Given the description of an element on the screen output the (x, y) to click on. 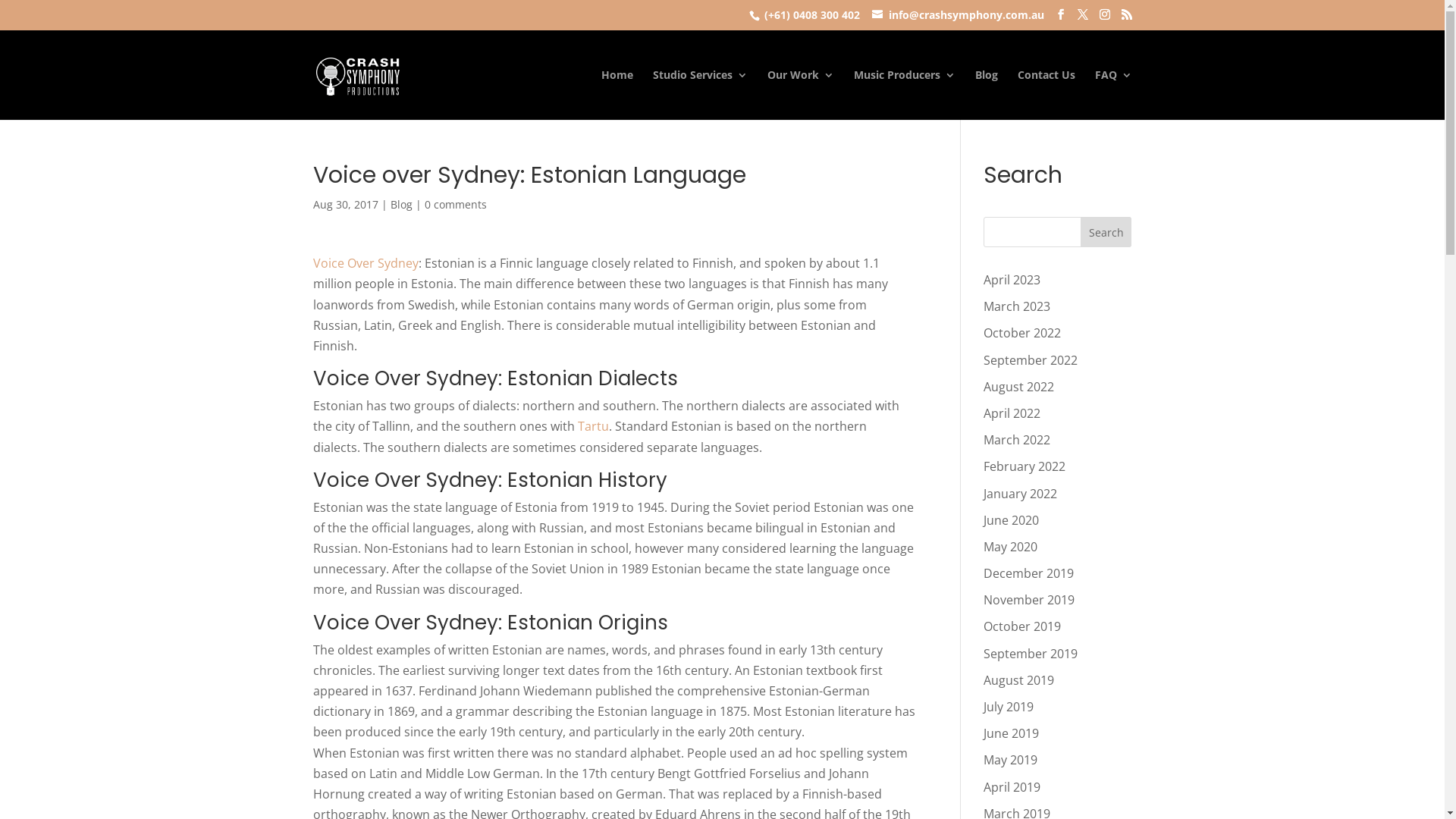
October 2019 Element type: text (1021, 626)
Blog Element type: text (986, 94)
September 2019 Element type: text (1030, 653)
March 2022 Element type: text (1016, 439)
Home Element type: text (616, 94)
0 comments Element type: text (455, 204)
April 2023 Element type: text (1011, 279)
August 2022 Element type: text (1018, 386)
Contact Us Element type: text (1046, 94)
Our Work Element type: text (800, 94)
Blog Element type: text (400, 204)
May 2020 Element type: text (1010, 546)
info@crashsymphony.com.au Element type: text (958, 15)
July 2019 Element type: text (1008, 706)
April 2022 Element type: text (1011, 412)
March 2023 Element type: text (1016, 306)
(+61) 0408 300 402 Element type: text (811, 14)
February 2022 Element type: text (1024, 466)
September 2022 Element type: text (1030, 359)
Tartu Element type: text (592, 425)
May 2019 Element type: text (1010, 759)
FAQ Element type: text (1113, 94)
January 2022 Element type: text (1020, 493)
November 2019 Element type: text (1028, 599)
Studio Services Element type: text (699, 94)
August 2019 Element type: text (1018, 679)
April 2019 Element type: text (1011, 786)
Music Producers Element type: text (904, 94)
October 2022 Element type: text (1021, 332)
Search Element type: text (1106, 231)
June 2020 Element type: text (1010, 519)
June 2019 Element type: text (1010, 732)
December 2019 Element type: text (1028, 572)
Voice Over Sydney Element type: text (364, 262)
